Given the description of an element on the screen output the (x, y) to click on. 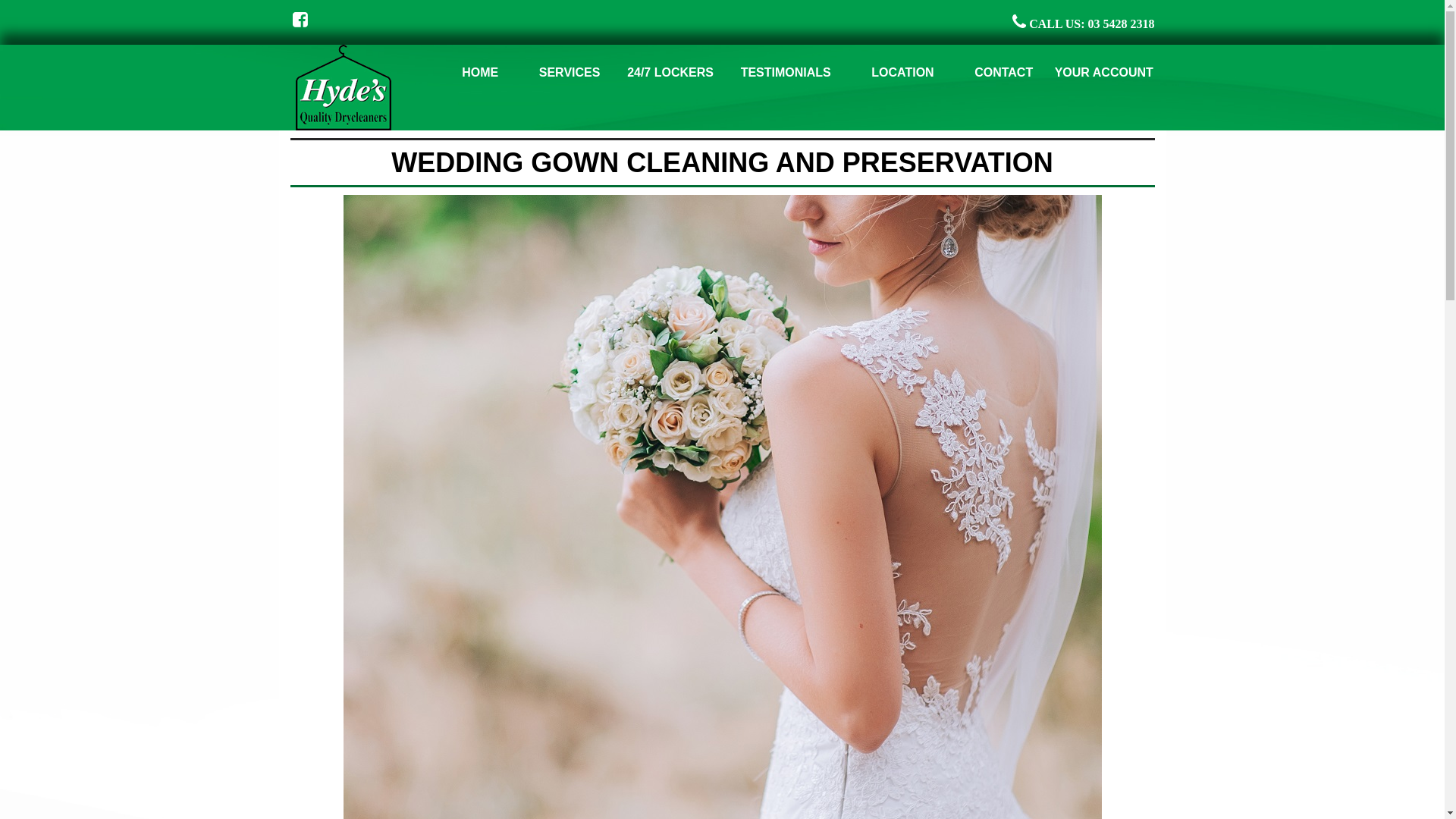
TESTIMONIALS Element type: text (785, 72)
CONTACT Element type: text (1003, 72)
HOME Element type: text (479, 72)
LOCATION Element type: text (902, 72)
YOUR ACCOUNT Element type: text (1103, 72)
SERVICES Element type: text (569, 72)
 CALL US: 03 5428 2318 Element type: text (1083, 23)
24/7 LOCKERS Element type: text (670, 72)
